Given the description of an element on the screen output the (x, y) to click on. 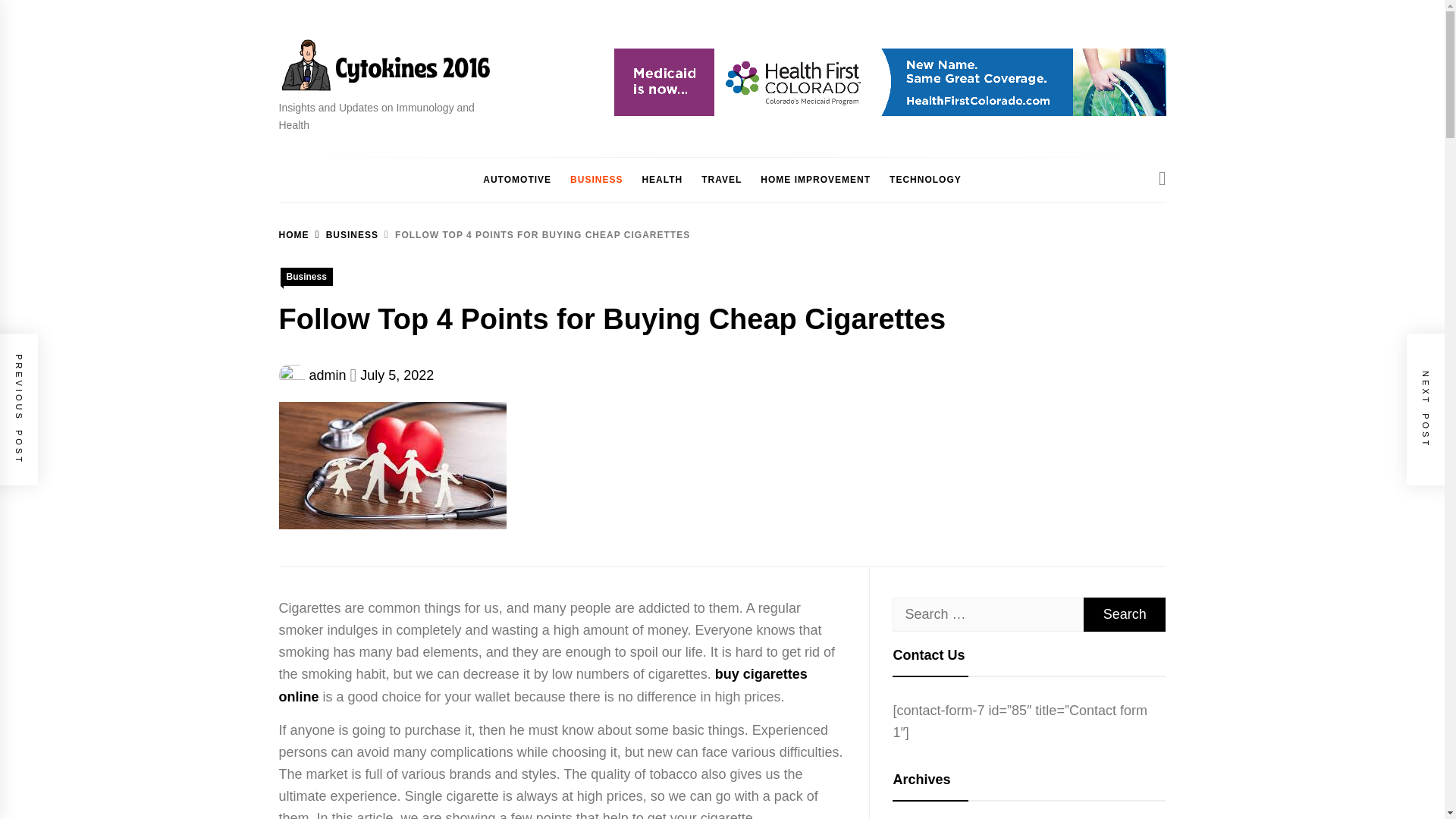
BUSINESS (343, 235)
admin (327, 375)
HOME (293, 235)
Search (1124, 614)
Header Advertise (890, 82)
Search (1124, 614)
Cytokines 2016 (373, 113)
buy cigarettes online (543, 684)
HOME IMPROVEMENT (814, 180)
TECHNOLOGY (925, 180)
